Given the description of an element on the screen output the (x, y) to click on. 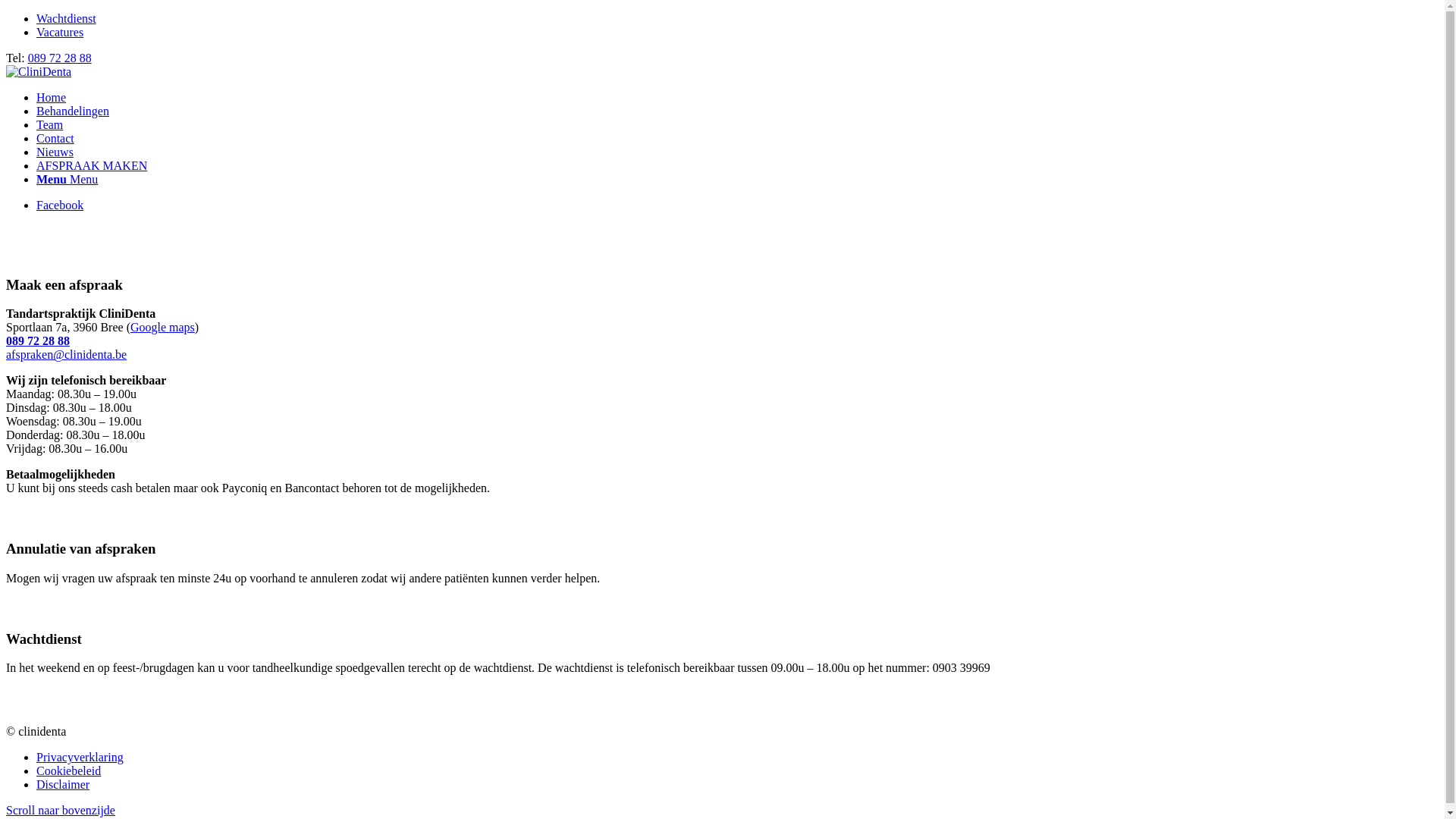
Facebook Element type: text (59, 204)
Team Element type: text (49, 124)
Wachtdienst Element type: text (66, 18)
Scroll naar bovenzijde Element type: text (60, 809)
Disclaimer Element type: text (62, 784)
afspraken@clinidenta.be Element type: text (66, 354)
Cookiebeleid Element type: text (68, 770)
Google maps Element type: text (162, 326)
089 72 28 88 Element type: text (59, 57)
Contact Element type: text (55, 137)
089 72 28 88 Element type: text (37, 340)
Menu Menu Element type: text (66, 178)
Nieuws Element type: text (54, 151)
Privacyverklaring Element type: text (79, 756)
Vacatures Element type: text (59, 31)
Home Element type: text (50, 97)
AFSPRAAK MAKEN Element type: text (91, 165)
Behandelingen Element type: text (72, 110)
